Given the description of an element on the screen output the (x, y) to click on. 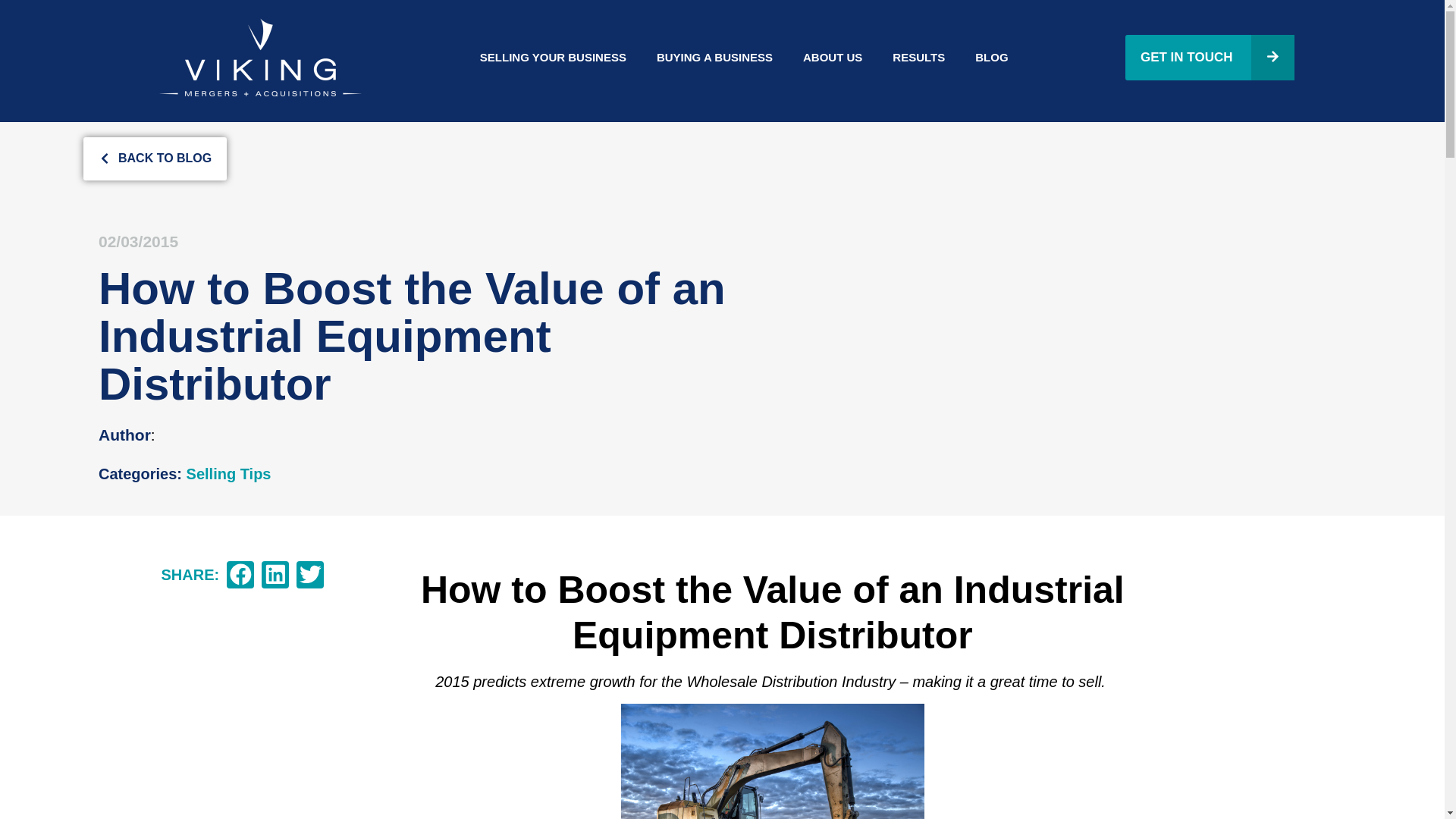
BUYING A BUSINESS (714, 56)
RESULTS (918, 56)
ABOUT US (832, 56)
SELLING YOUR BUSINESS (553, 56)
BLOG (991, 56)
